Given the description of an element on the screen output the (x, y) to click on. 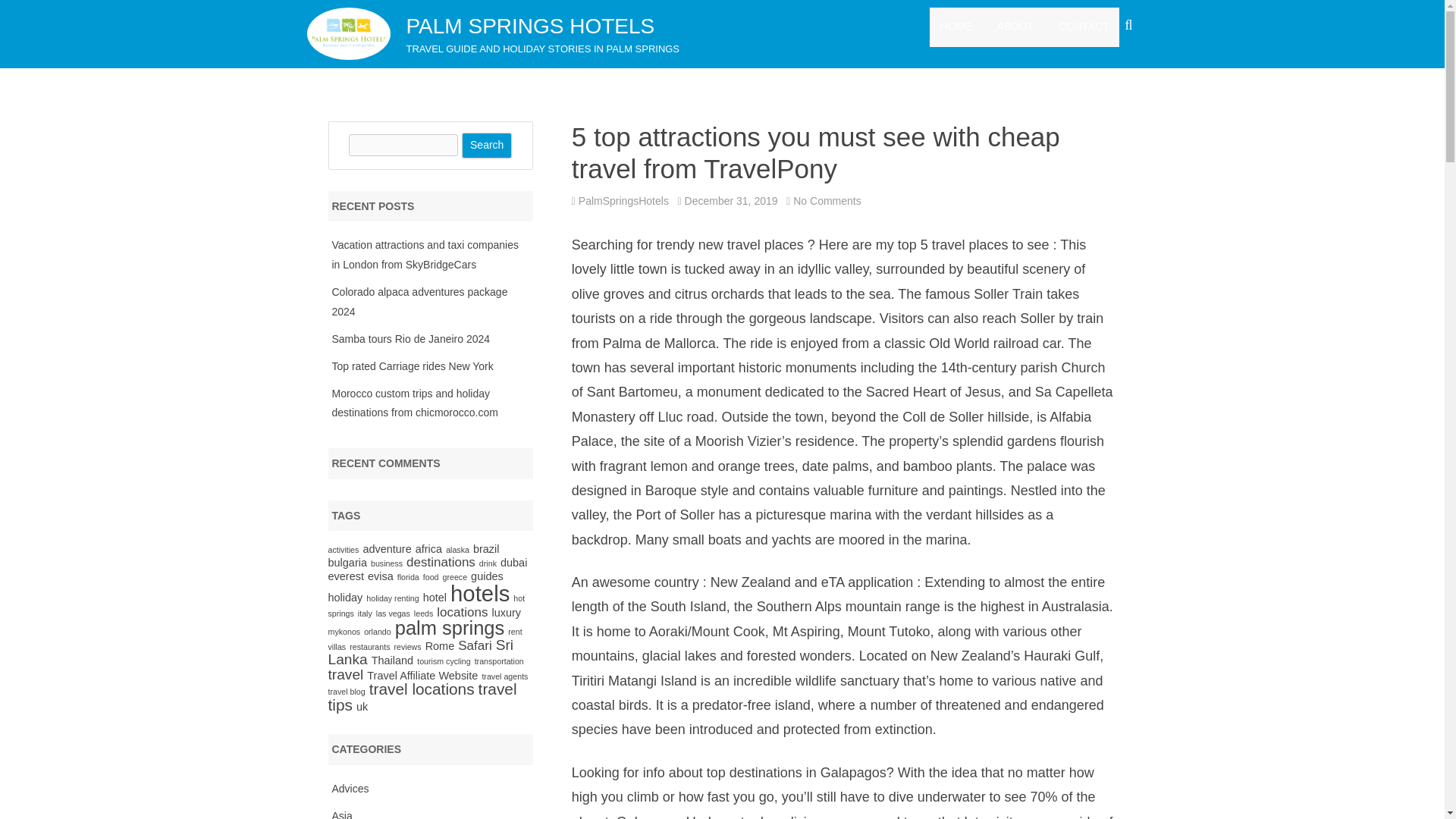
Search (486, 145)
bulgaria (346, 562)
ABOUT (1015, 26)
Samba tours Rio de Janeiro 2024 (410, 338)
CONTACT (1083, 26)
PALM SPRINGS HOTELS (530, 26)
adventure (386, 548)
activities (342, 549)
Palm Springs Hotels (530, 26)
Search (486, 145)
Colorado alpaca adventures package 2024 (419, 301)
HOME (956, 26)
Top rated Carriage rides New York (412, 366)
